Given the description of an element on the screen output the (x, y) to click on. 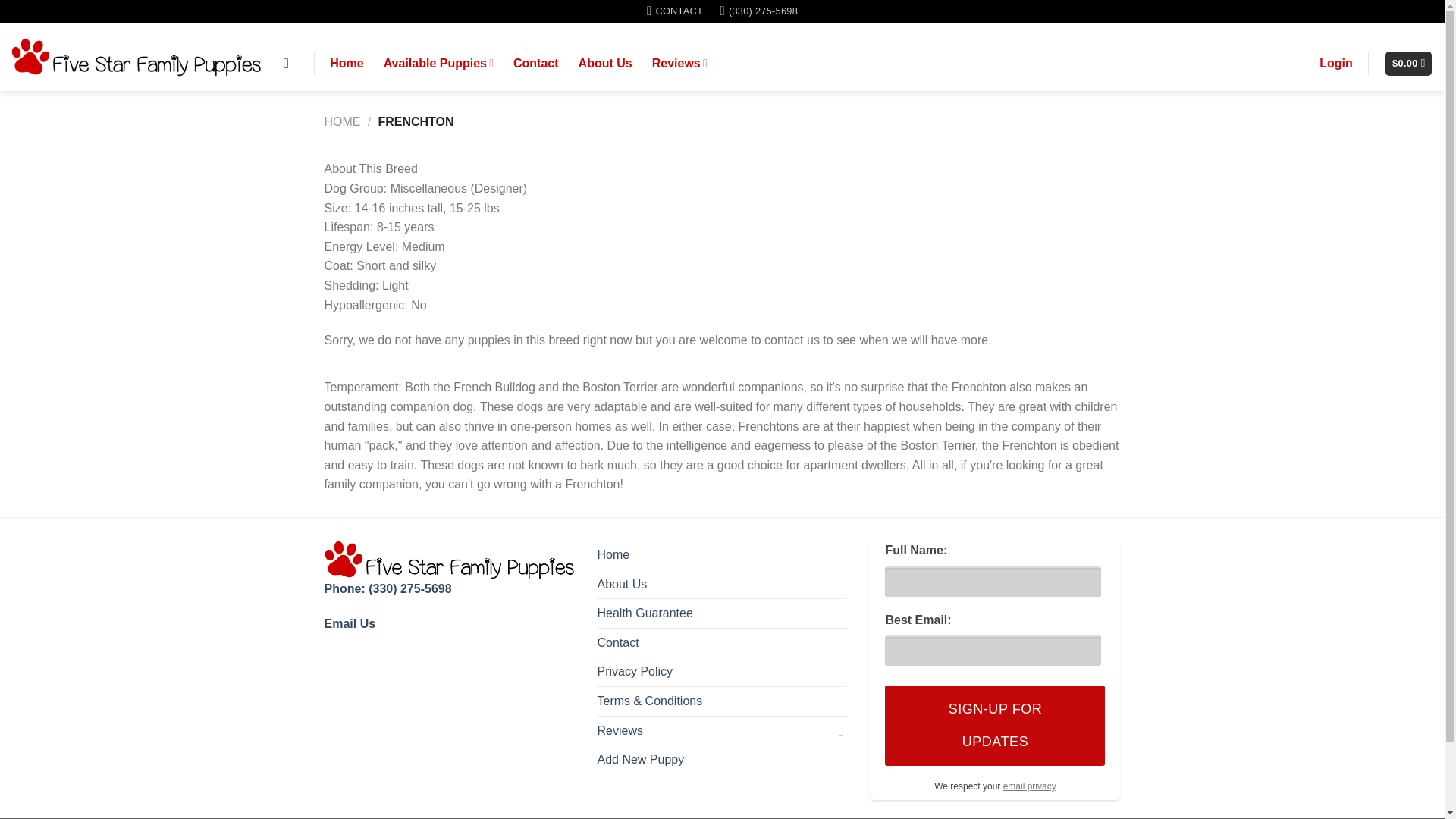
email privacy (1030, 786)
Privacy Policy (634, 671)
Five Star Family Puppies - Puppies for Sale in Ohio (135, 57)
HOME (342, 121)
Sign-Up For Updates (995, 725)
Home (612, 554)
Privacy Policy (1030, 786)
About Us (621, 584)
Health Guarantee (644, 613)
Basket (1408, 63)
